Given the description of an element on the screen output the (x, y) to click on. 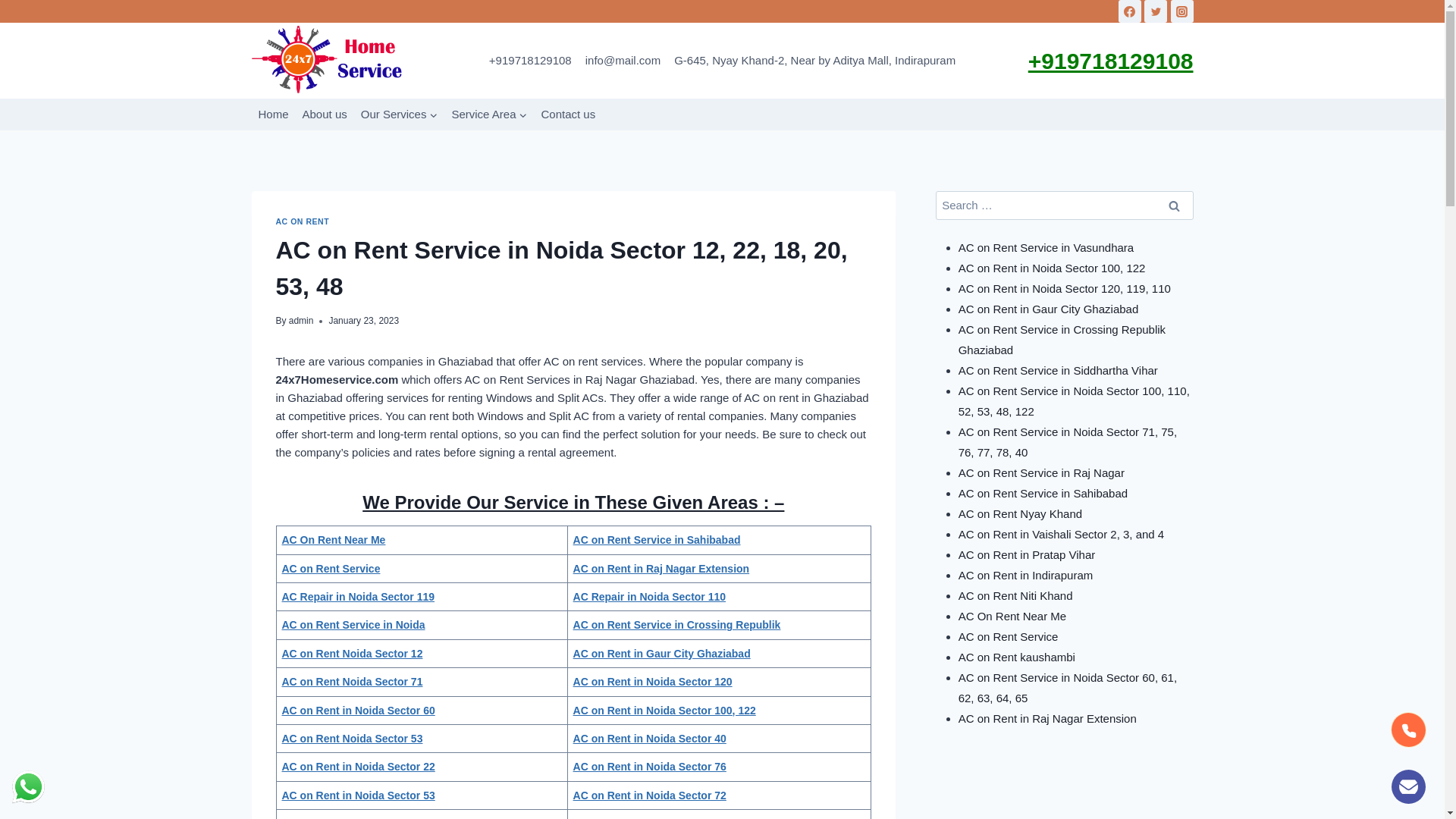
AC on Rent Service in Crossing Republik Ghaziabad Element type: text (1061, 339)
AC on Rent in Noida Sector 120 Element type: text (652, 681)
AC on Rent in Gaur City Ghaziabad Element type: text (661, 653)
AC on Rent Service Element type: text (331, 568)
AC on Rent Niti Khand Element type: text (1015, 594)
AC Repair in Noida Sector 110 Element type: text (649, 596)
AC on Rent Noida Sector 12 Element type: text (352, 653)
AC on Rent Noida Sector 53 Element type: text (352, 738)
AC on Rent in Gaur City Ghaziabad Element type: text (1048, 307)
AC on Rent Service in Noida Sector 71, 75, 76, 77, 78, 40 Element type: text (1067, 441)
Our Services Element type: text (399, 114)
AC on Rent Service in Sahibabad Element type: text (656, 539)
AC on Rent in Raj Nagar Extension Element type: text (1047, 717)
AC on Rent in Noida Sector 53 Element type: text (358, 795)
G-645, Nyay Khand-2, Near by Aditya Mall, Indirapuram Element type: text (814, 60)
AC on Rent Service in Raj Nagar Element type: text (1041, 471)
AC on Rent in Noida Sector 120, 119, 110 Element type: text (1064, 288)
AC on Rent kaushambi Element type: text (1016, 656)
AC on Rent in Pratap Vihar Element type: text (1026, 553)
AC on Rent in Noida Sector 22 Element type: text (358, 766)
+919718129108 Element type: text (530, 60)
AC on Rent Service Element type: text (1008, 635)
AC on Rent Service in Noida Sector 60, 61, 62, 63, 64, 65 Element type: text (1067, 686)
AC on Rent in Raj Nagar Extension Element type: text (661, 568)
AC on Rent Service in Crossing Republik Element type: text (677, 624)
Contact us Element type: text (567, 114)
AC on Rent in Noida Sector 100, 122 Element type: text (1051, 266)
AC on Rent Service in Noida Element type: text (353, 624)
admin Element type: text (300, 320)
Home Element type: text (273, 114)
AC on Rent in Noida Sector 40 Element type: text (649, 738)
+919718129108 Element type: text (1110, 60)
AC on Rent Service in Siddhartha Vihar Element type: text (1057, 370)
Search Element type: text (1174, 205)
AC ON RENT Element type: text (302, 220)
AC on Rent in Vaishali Sector 2, 3, and 4 Element type: text (1061, 533)
AC on Rent in Indirapuram Element type: text (1025, 574)
AC on Rent Nyay Khand Element type: text (1020, 512)
AC on Rent Noida Sector 71 Element type: text (352, 681)
AC on Rent in Noida Sector 76 Element type: text (649, 766)
AC on Rent Service in Vasundhara Element type: text (1046, 247)
AC Repair in Noida Sector 119 Element type: text (358, 596)
AC on Rent in Noida Sector 60 Element type: text (358, 710)
AC On Rent Near Me Element type: text (333, 539)
AC on Rent in Noida Sector 72 Element type: text (649, 795)
About us Element type: text (324, 114)
info@mail.com Element type: text (622, 60)
Service Area Element type: text (488, 114)
AC on Rent Service in Sahibabad Element type: text (1042, 492)
AC On Rent Near Me Element type: text (1012, 615)
AC on Rent Service in Noida Sector 100, 110, 52, 53, 48, 122 Element type: text (1073, 400)
AC on Rent in Noida Sector 100, 122 Element type: text (664, 710)
